Given the description of an element on the screen output the (x, y) to click on. 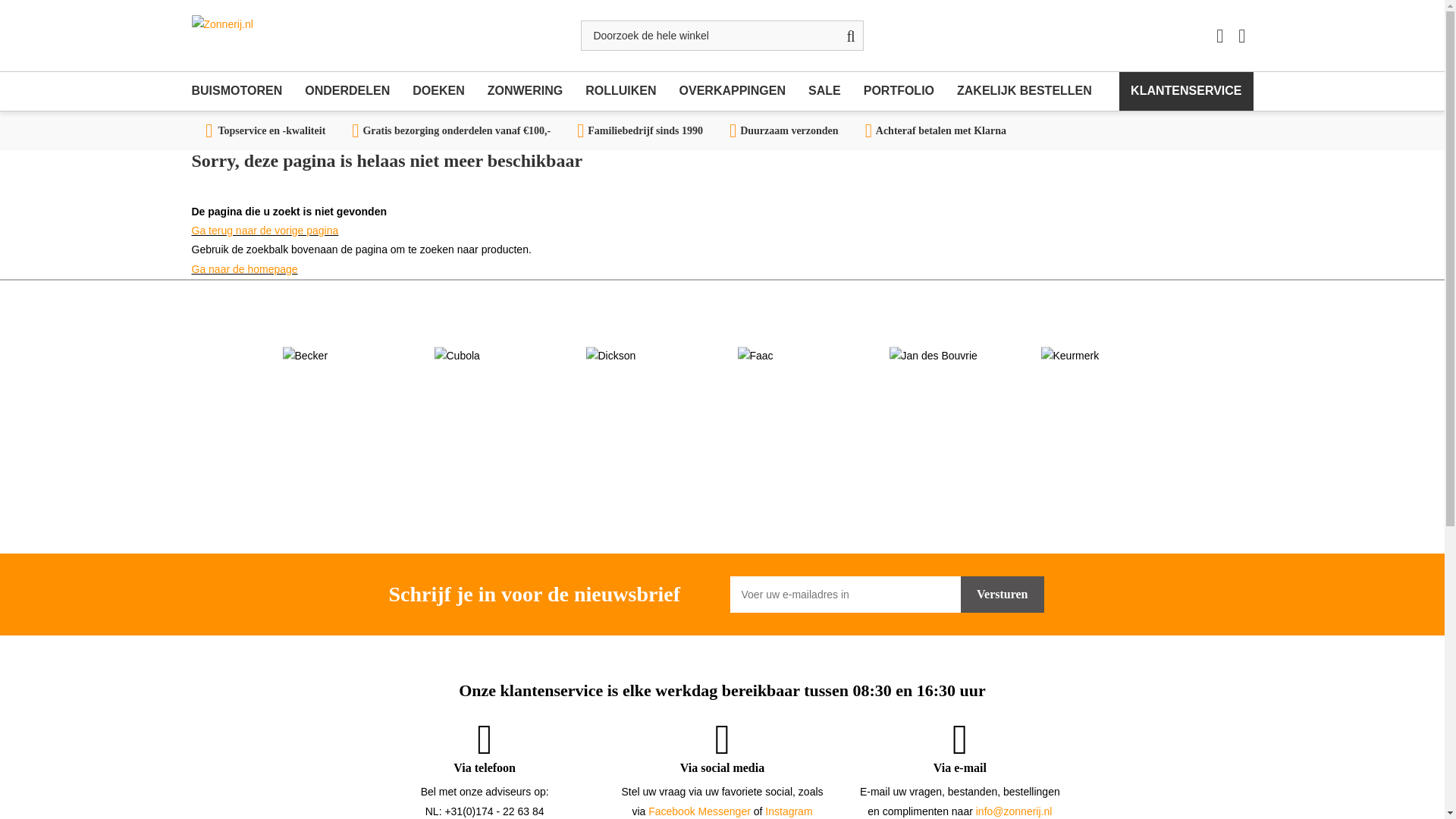
Winkelwagen (1241, 35)
Onderdelen (347, 91)
BUISMOTOREN (242, 91)
Zonnerij.nl (266, 35)
Zonnerij.nl (266, 35)
ONDERDELEN (347, 91)
Buismotoren (242, 91)
Inloggen (1219, 38)
